Given the description of an element on the screen output the (x, y) to click on. 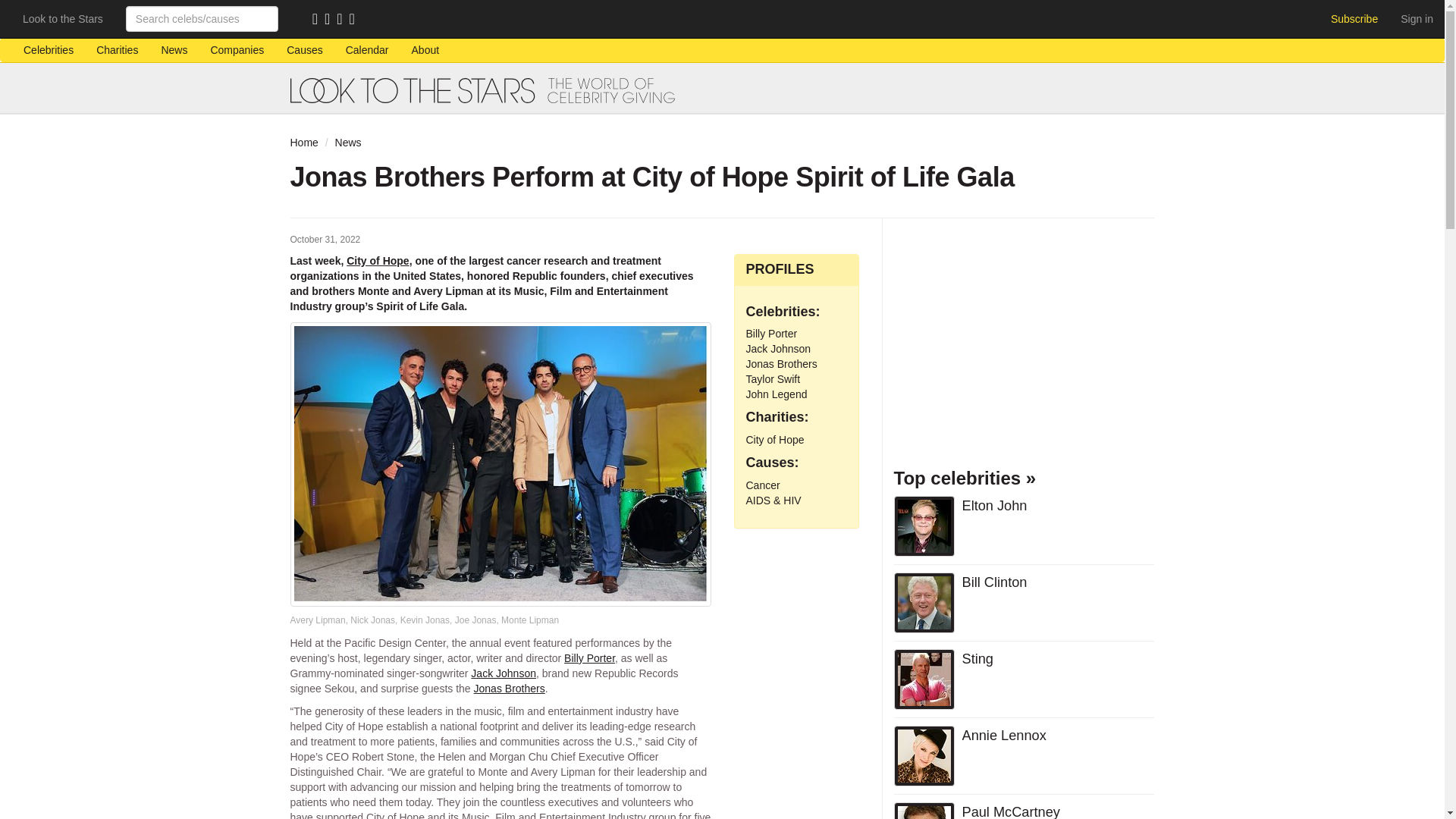
Causes (304, 49)
Look to the Stars (63, 18)
Subscribe to our feed (318, 20)
Home (303, 142)
Billy Porter (589, 657)
RSS feed (318, 20)
City of Hope (377, 260)
Subscribe (1354, 18)
Look to the Stars - the world of celebrity giving (721, 90)
Billy Porter (771, 333)
Cancer (762, 485)
Jonas Brothers (509, 688)
Jonas Brothers (780, 363)
Jack Johnson (502, 673)
Jack Johnson (777, 348)
